Given the description of an element on the screen output the (x, y) to click on. 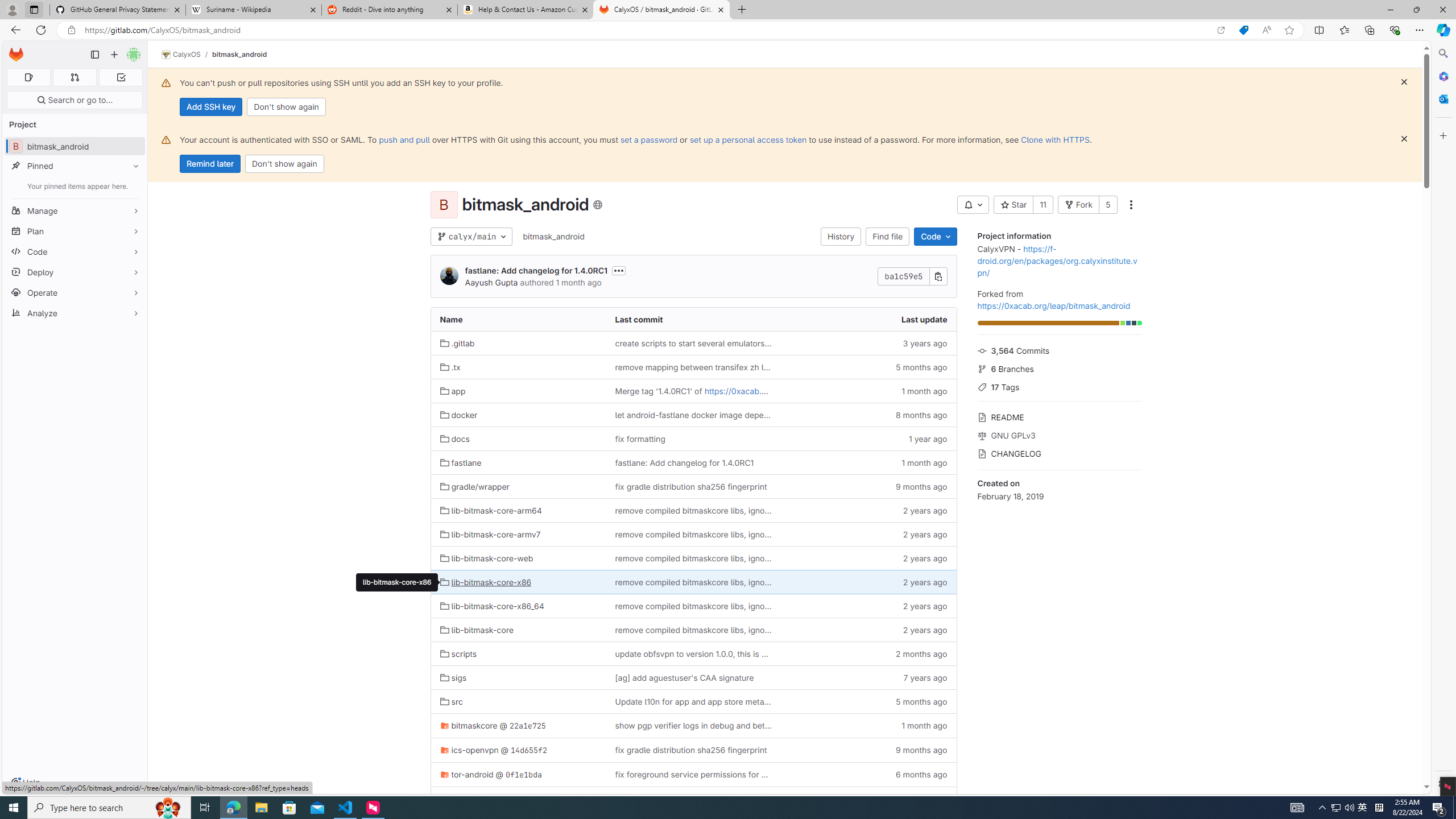
CalyxOS/ (186, 54)
.gitlab (456, 342)
Don't show again (284, 163)
fix gradle distribution sha256 fingerprint (690, 749)
3,564 Commits (1058, 349)
11 (1042, 204)
Toggle commit description (618, 270)
14d655f2 (529, 750)
CHANGELOG (1058, 452)
1 year ago (868, 798)
scripts (458, 653)
